Given the description of an element on the screen output the (x, y) to click on. 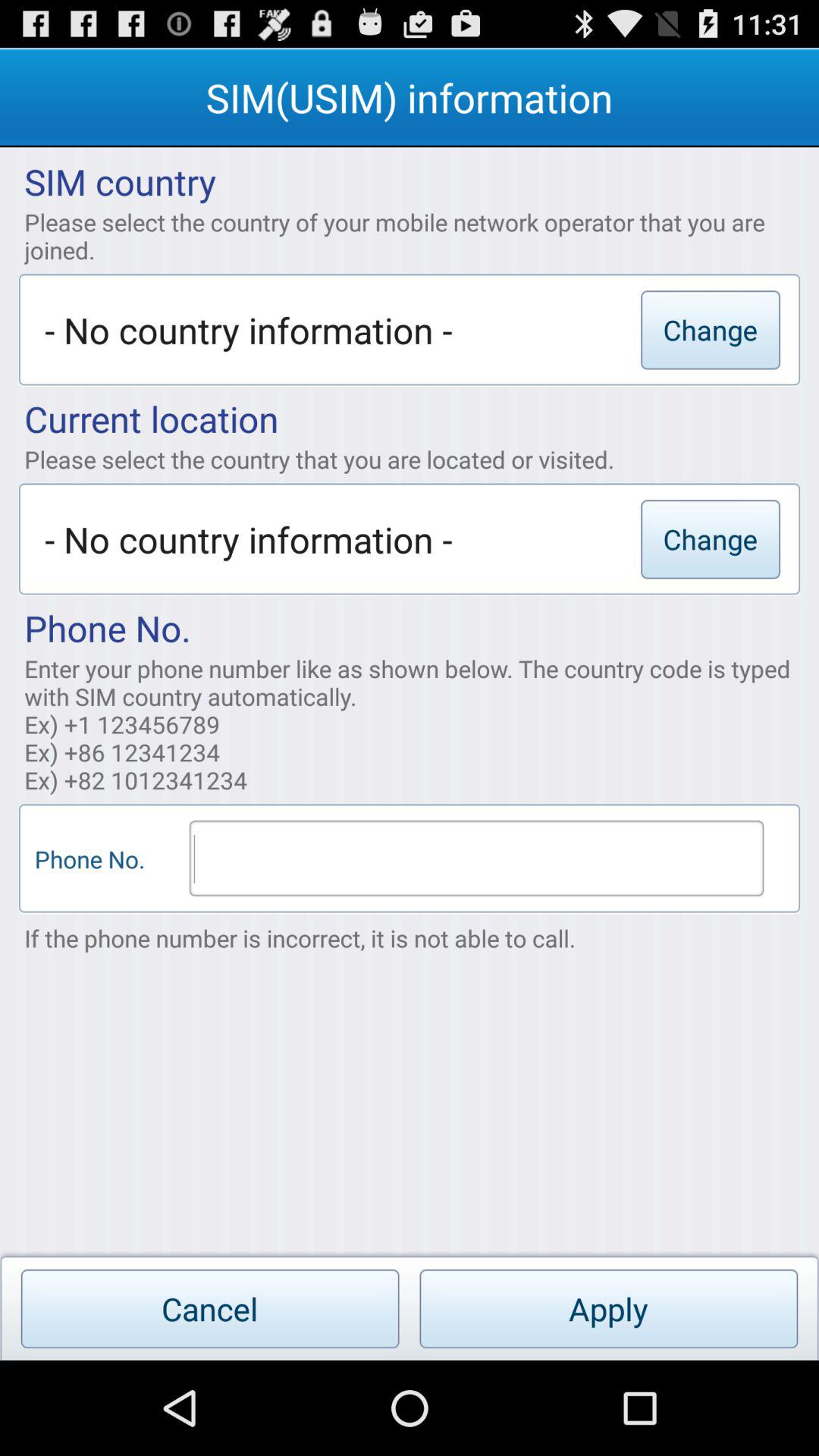
turn off app below if the phone (608, 1309)
